Given the description of an element on the screen output the (x, y) to click on. 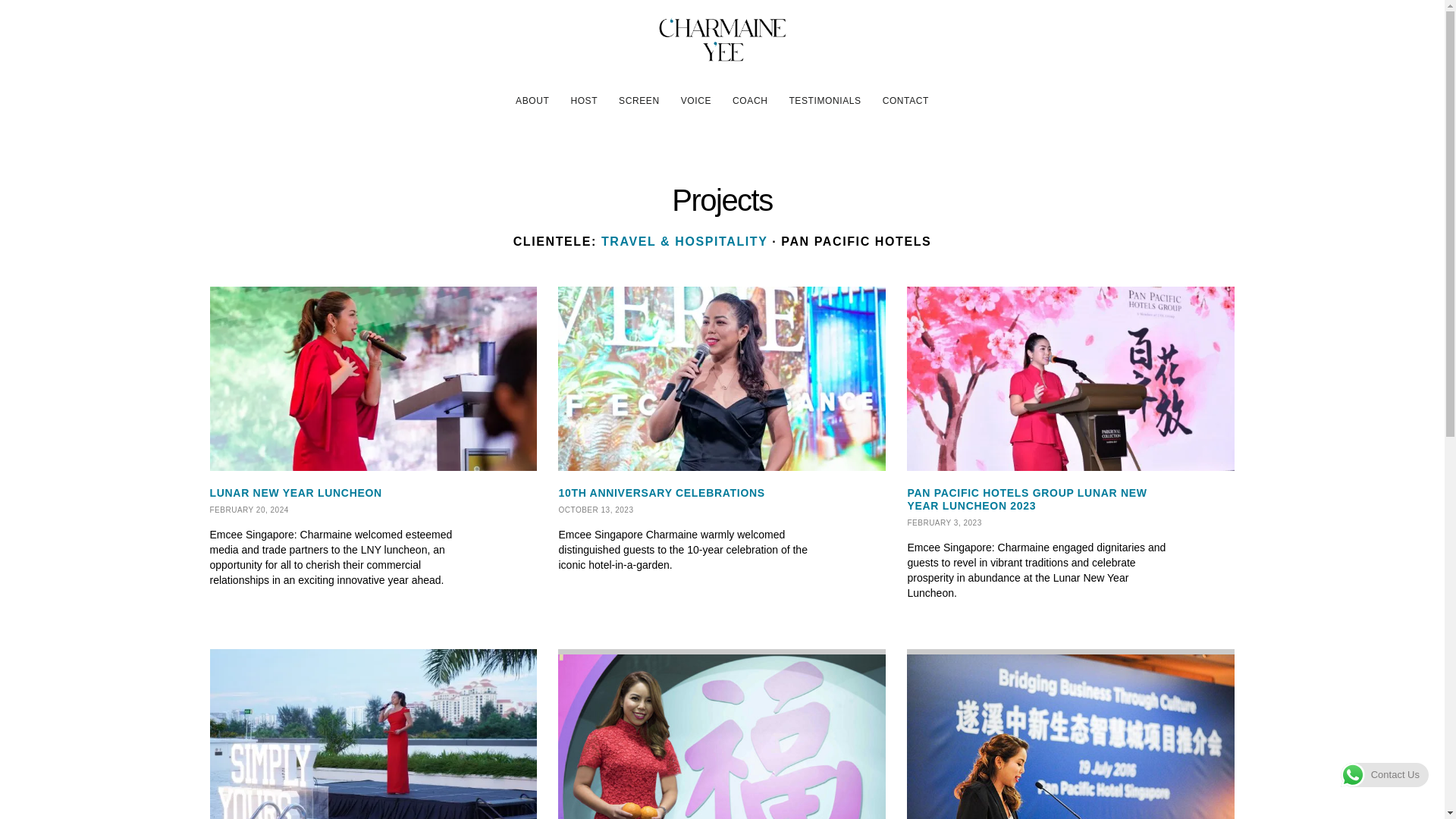
YouTube (278, 99)
SCREEN (638, 100)
TESTIMONIALS (824, 100)
Screen (638, 100)
Coach (749, 100)
HOST (583, 100)
Testimonials (824, 100)
Twitter (310, 99)
YouTube (278, 99)
